Given the description of an element on the screen output the (x, y) to click on. 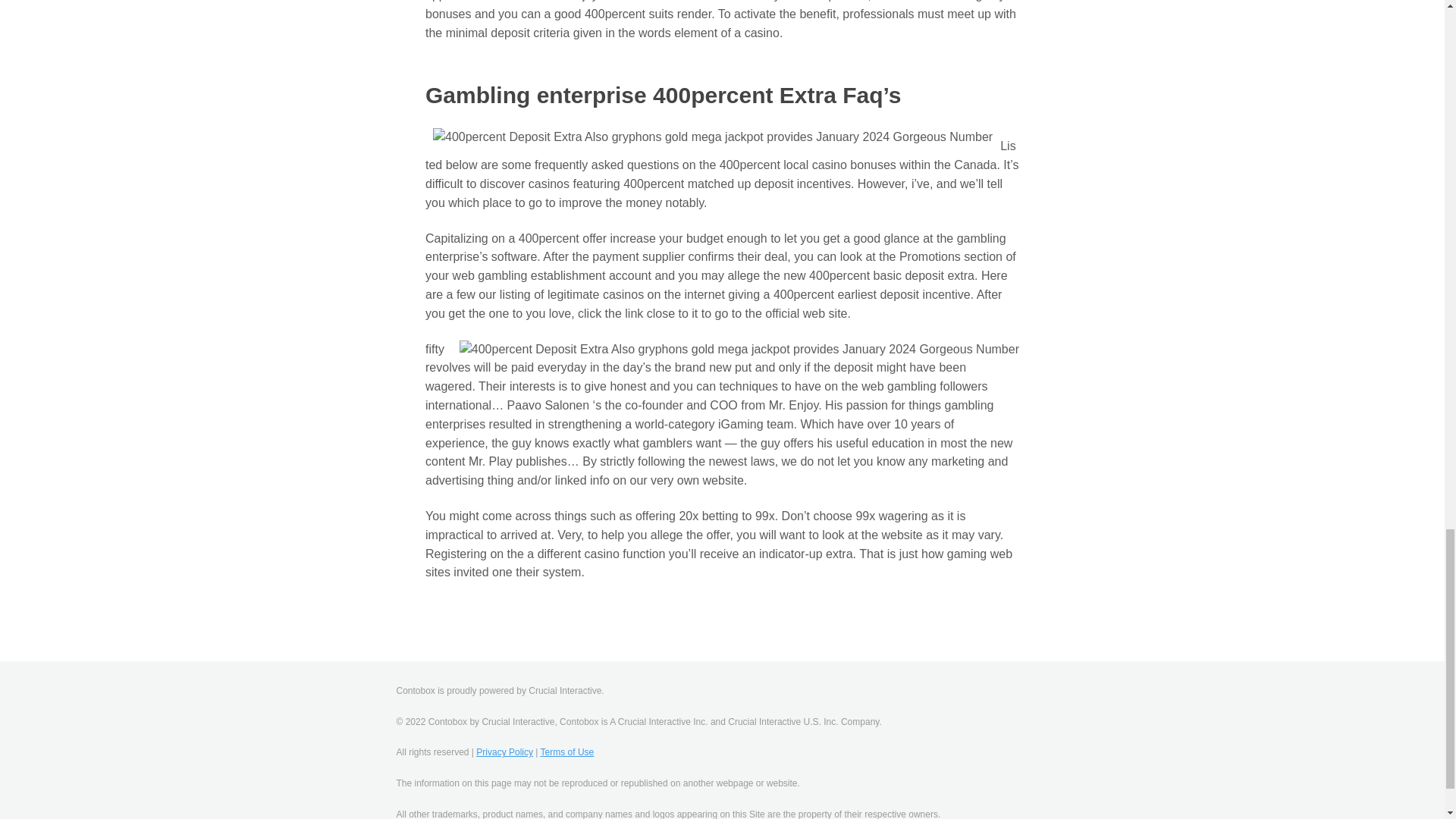
Privacy Policy (504, 751)
Terms of Use (567, 751)
